Given the description of an element on the screen output the (x, y) to click on. 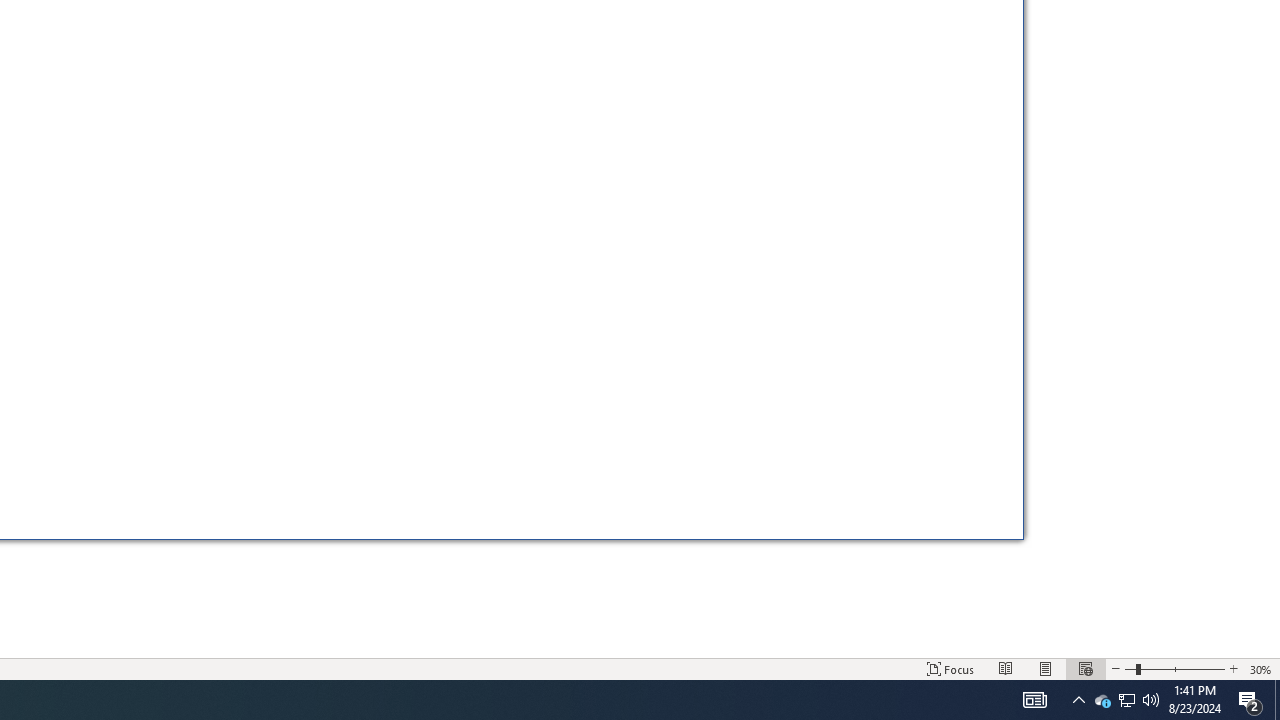
AutomationID: 4105 (1034, 699)
Q2790: 100% (1126, 699)
Zoom 30% (1151, 699)
Notification Chevron (1261, 668)
Show desktop (1078, 699)
Action Center, 2 new notifications (1102, 699)
User Promoted Notification Area (1277, 699)
